Given the description of an element on the screen output the (x, y) to click on. 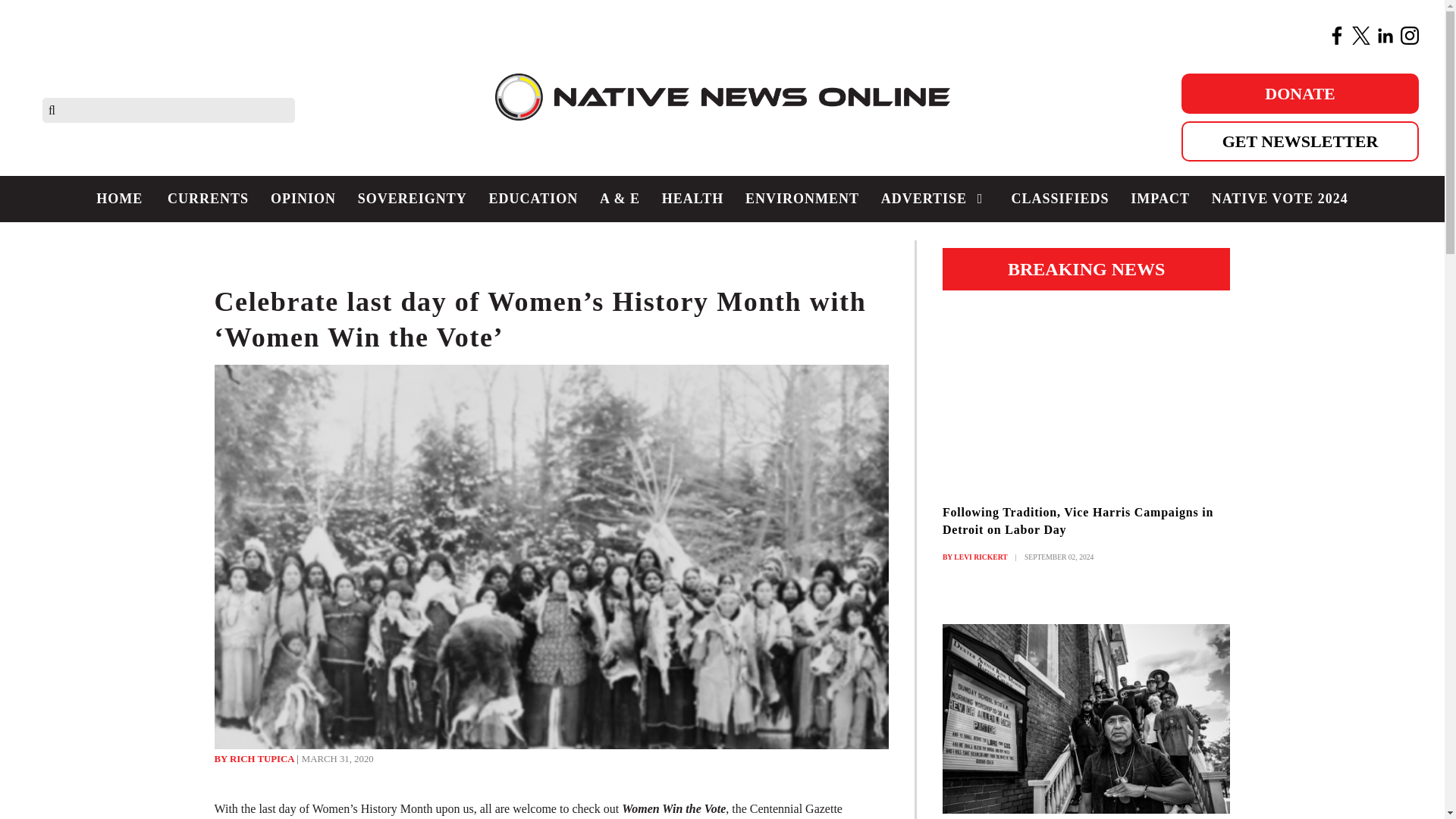
ADVERTISE (934, 198)
HEALTH (692, 198)
CURRENTS (208, 198)
GET NEWSLETTER (1299, 141)
HOME (119, 198)
CLASSIFIEDS (1059, 198)
SOVEREIGNTY (411, 198)
ENVIRONMENT (802, 198)
IMPACT (1159, 198)
